Given the description of an element on the screen output the (x, y) to click on. 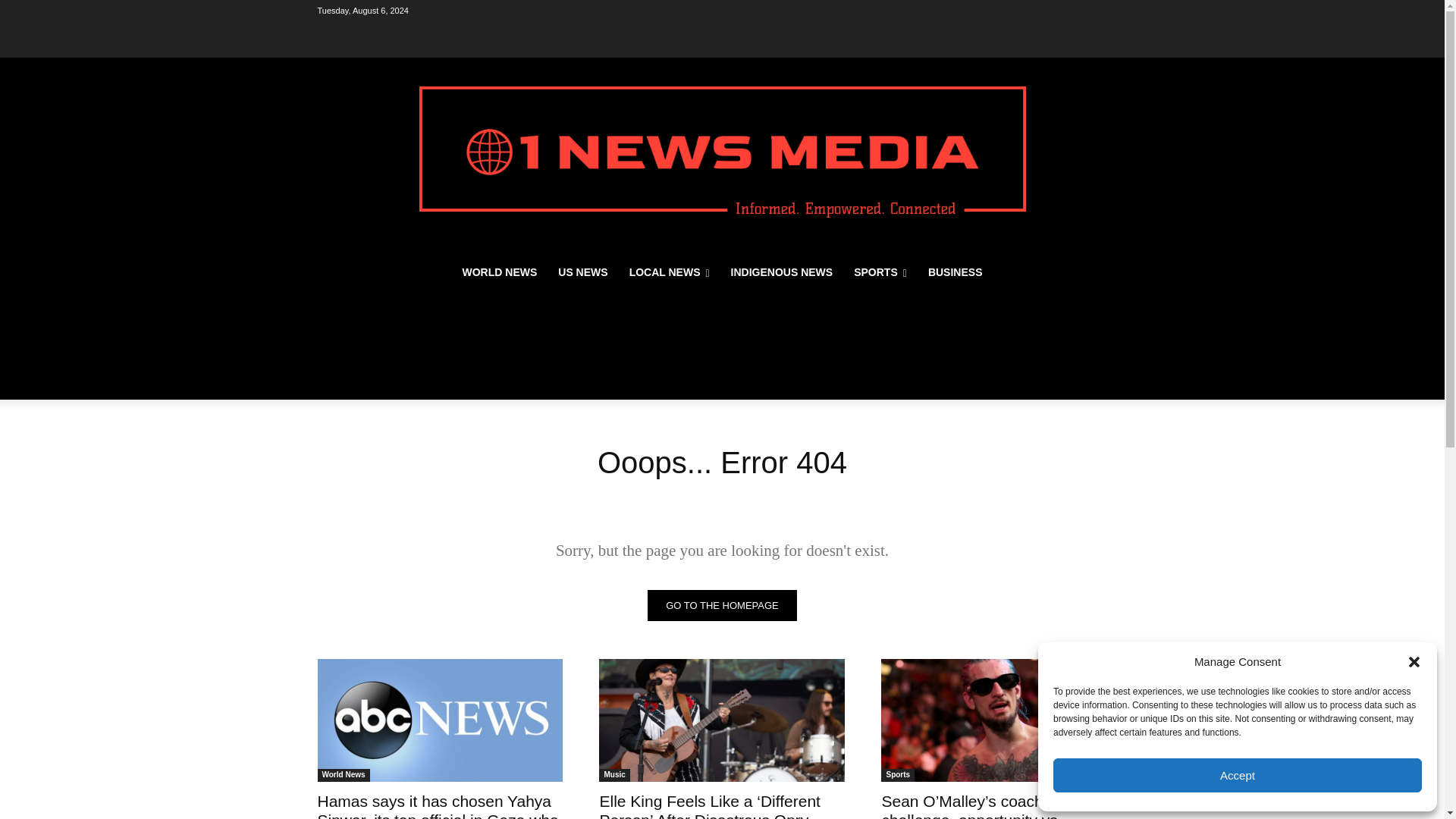
US NEWS (582, 271)
WORLD NEWS (499, 271)
SPORTS (880, 271)
Go to the homepage (721, 604)
LOCAL NEWS (669, 271)
BUSINESS (954, 271)
Accept (1237, 775)
INDIGENOUS NEWS (782, 271)
